Given the description of an element on the screen output the (x, y) to click on. 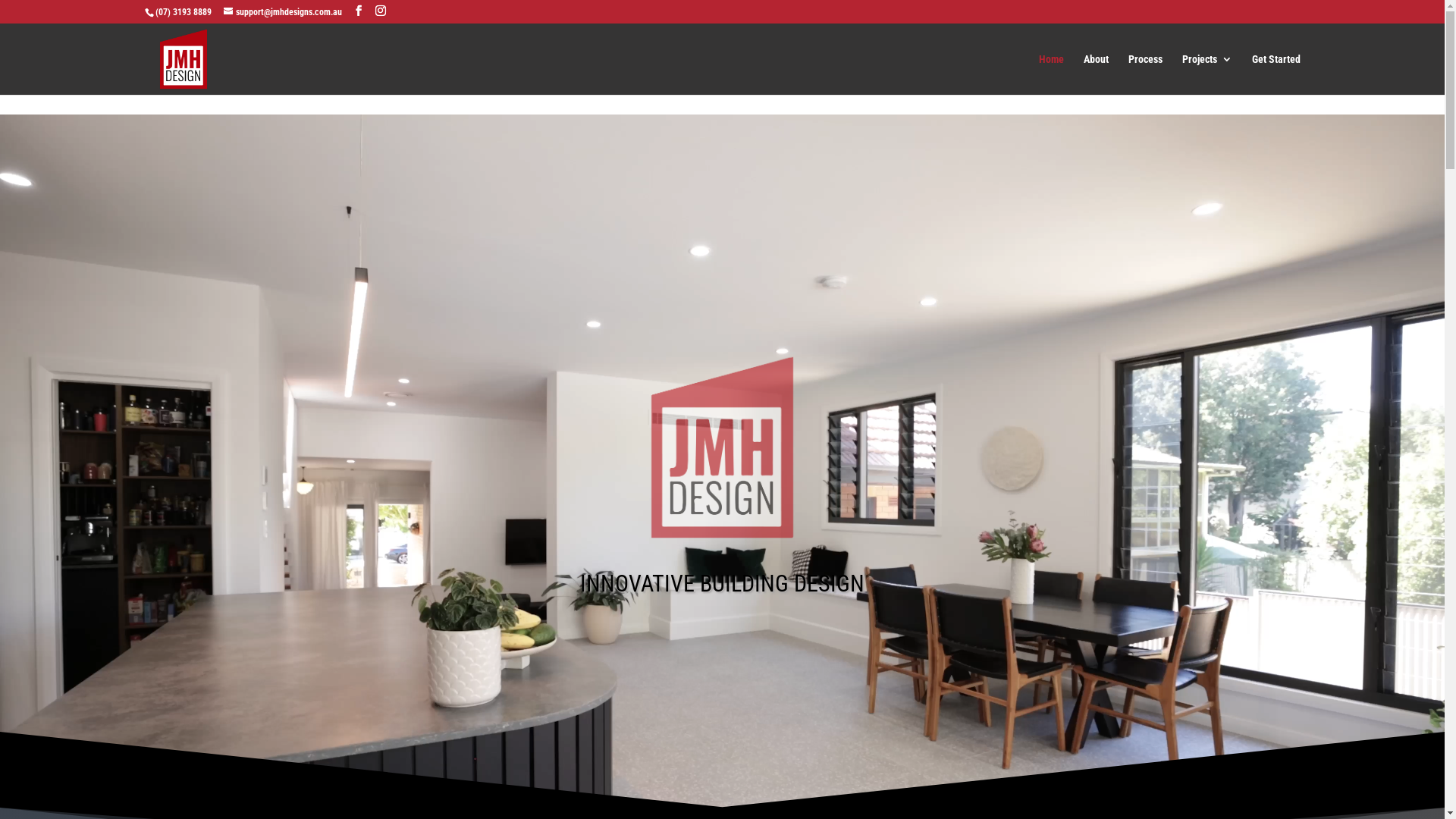
Process Element type: text (1145, 73)
About Element type: text (1094, 73)
Projects Element type: text (1206, 73)
Get Started Element type: text (1275, 73)
JMH-Icon Element type: hover (722, 446)
support@jmhdesigns.com.au Element type: text (281, 11)
Home Element type: text (1050, 73)
